Given the description of an element on the screen output the (x, y) to click on. 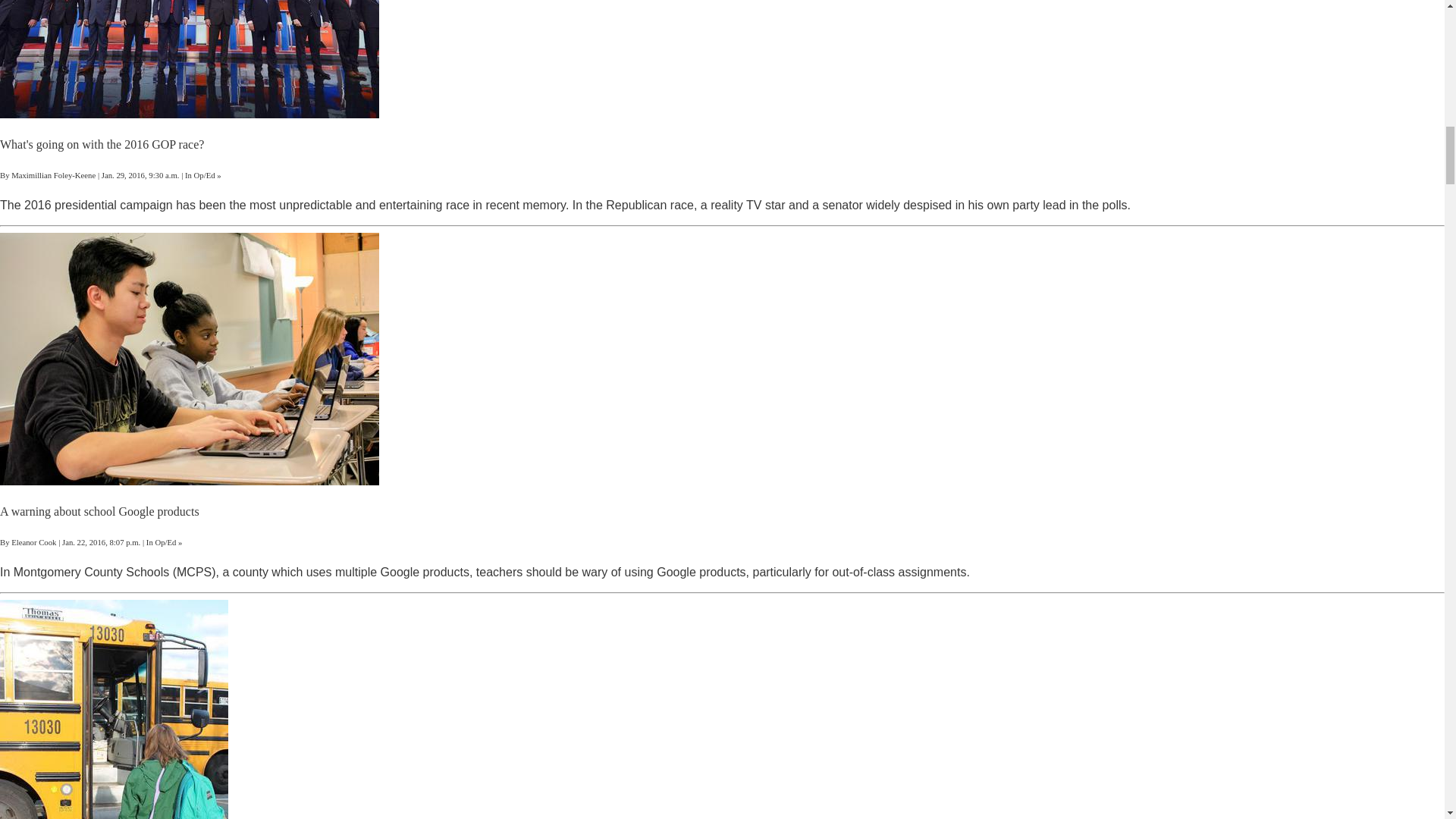
A warning about school Google products (99, 511)
Maximillian Foley-Keene (53, 174)
What's going on with the 2016 GOP race? (101, 144)
Eleanor Cook (33, 542)
